Given the description of an element on the screen output the (x, y) to click on. 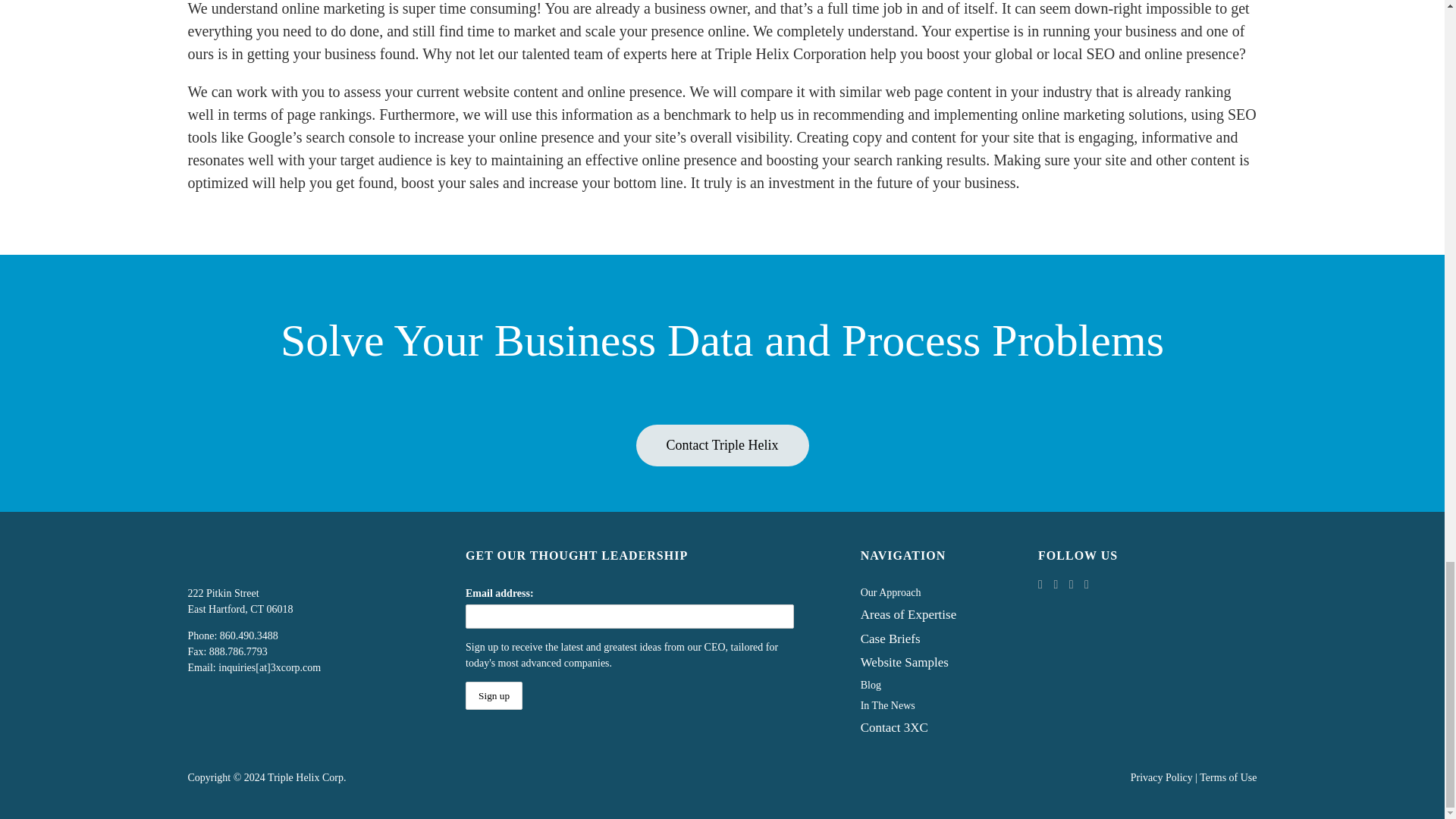
Sign up (493, 695)
Contact Triple Helix (721, 445)
Blog (919, 686)
Sign up (493, 695)
Areas of Expertise (919, 617)
Case Briefs (919, 641)
Our Approach (919, 594)
Website Samples (919, 664)
